Given the description of an element on the screen output the (x, y) to click on. 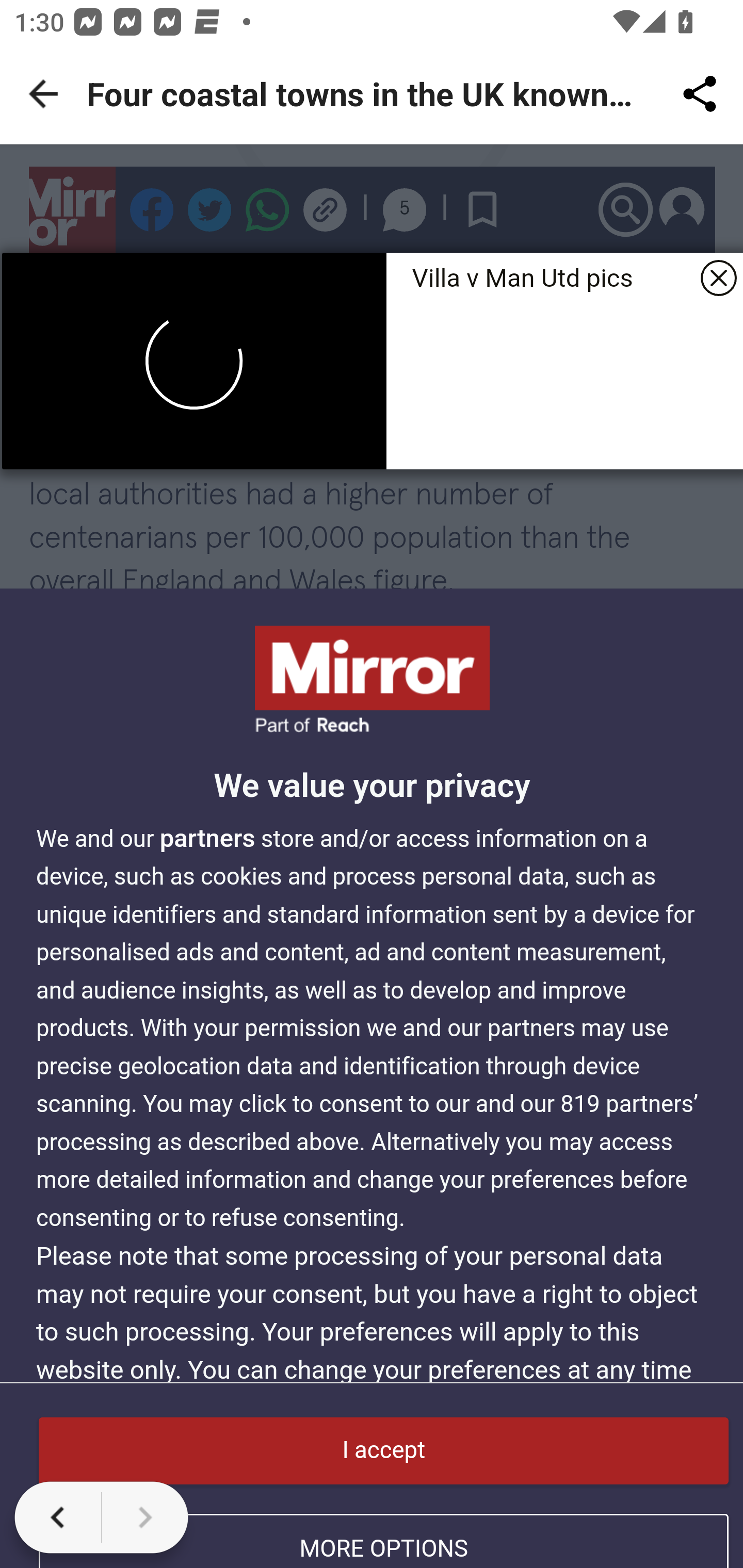
Unable to play media. (193, 361)
